Given the description of an element on the screen output the (x, y) to click on. 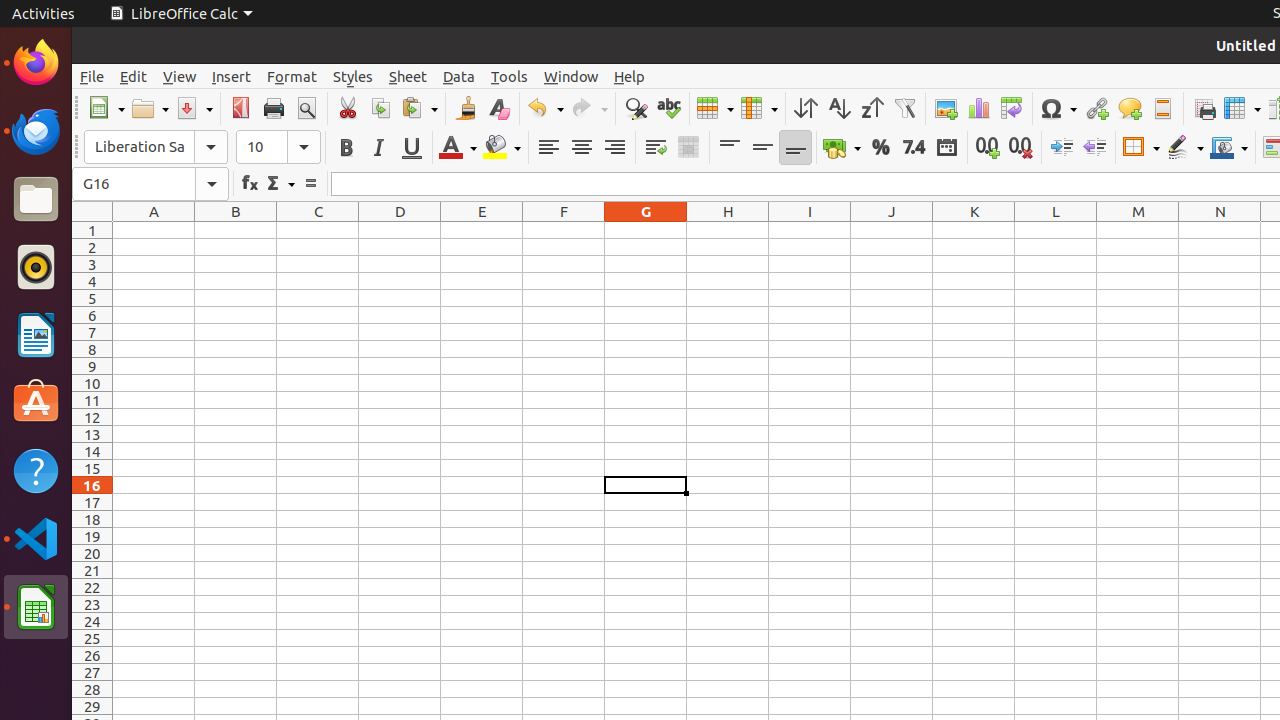
Bold Element type: toggle-button (345, 147)
Align Top Element type: push-button (729, 147)
Font Color Element type: push-button (458, 147)
Undo Element type: push-button (545, 108)
Align Right Element type: push-button (614, 147)
